Given the description of an element on the screen output the (x, y) to click on. 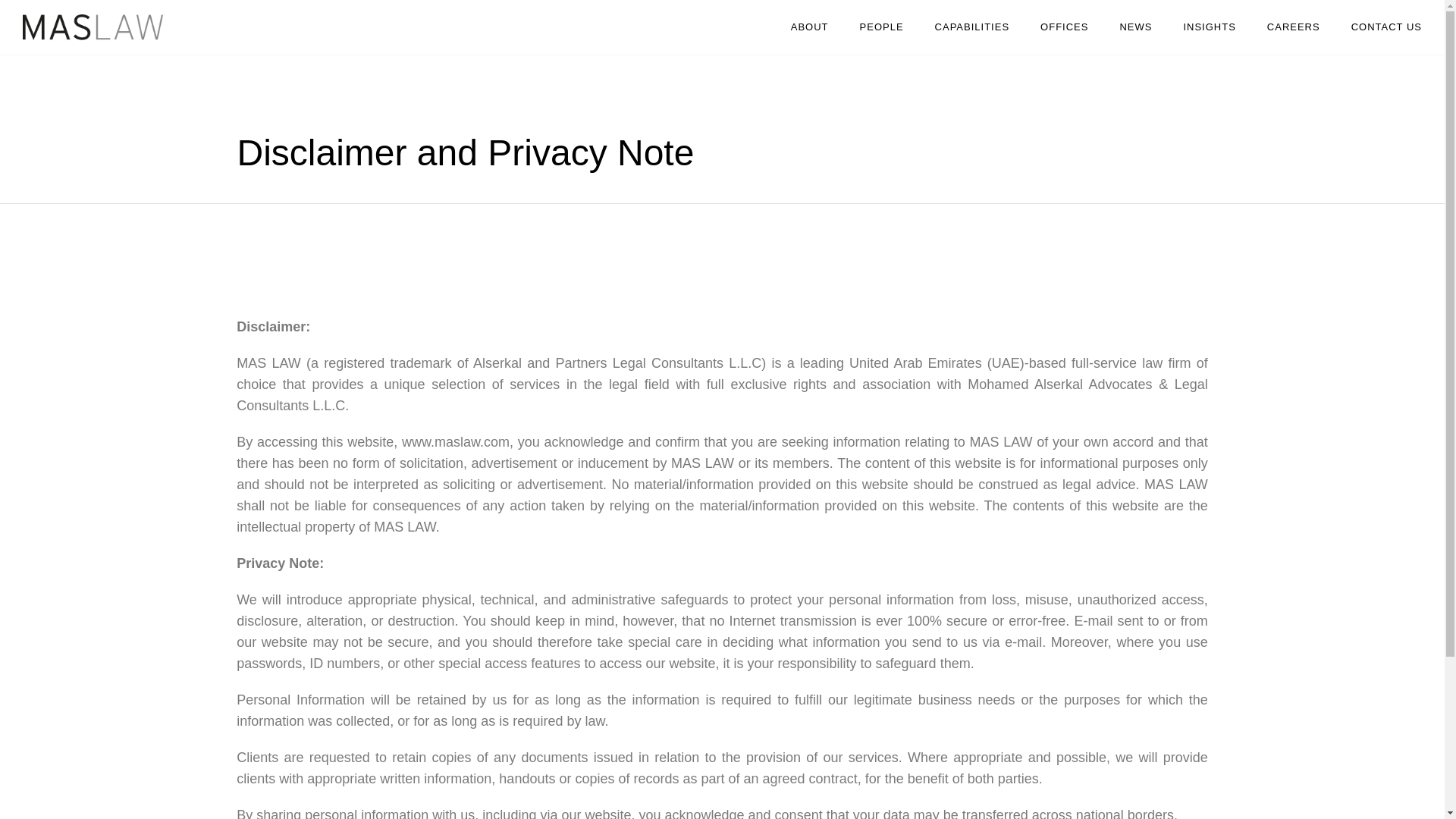
CONTACT US (1386, 27)
NEWS (1135, 27)
CAREERS (1293, 27)
ABOUT (810, 27)
INSIGHTS (1208, 27)
PEOPLE (881, 27)
CAPABILITIES (972, 27)
OFFICES (1064, 27)
